Given the description of an element on the screen output the (x, y) to click on. 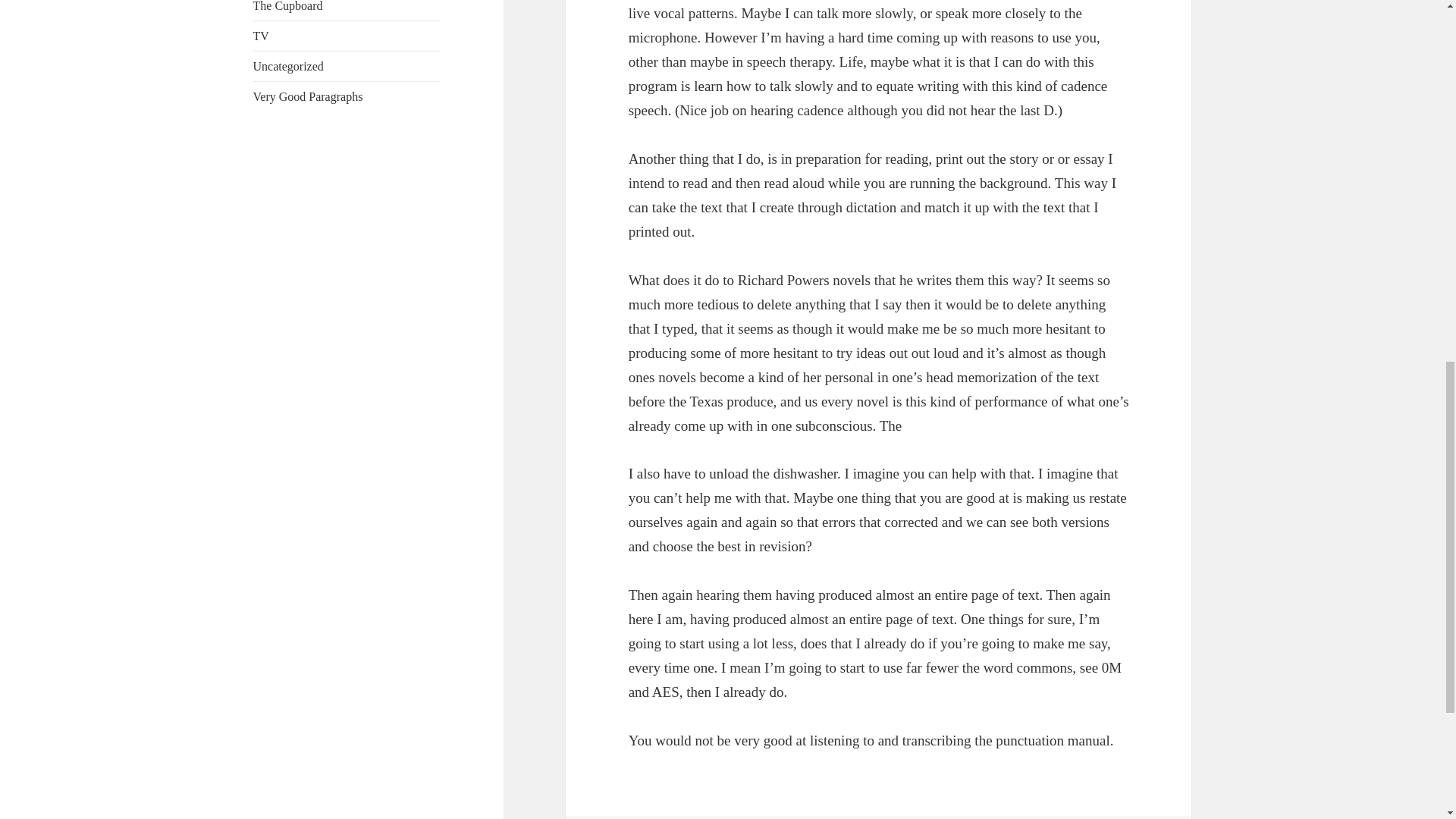
Uncategorized (288, 65)
TV (261, 35)
The Cupboard (288, 6)
Very Good Paragraphs (307, 96)
